Given the description of an element on the screen output the (x, y) to click on. 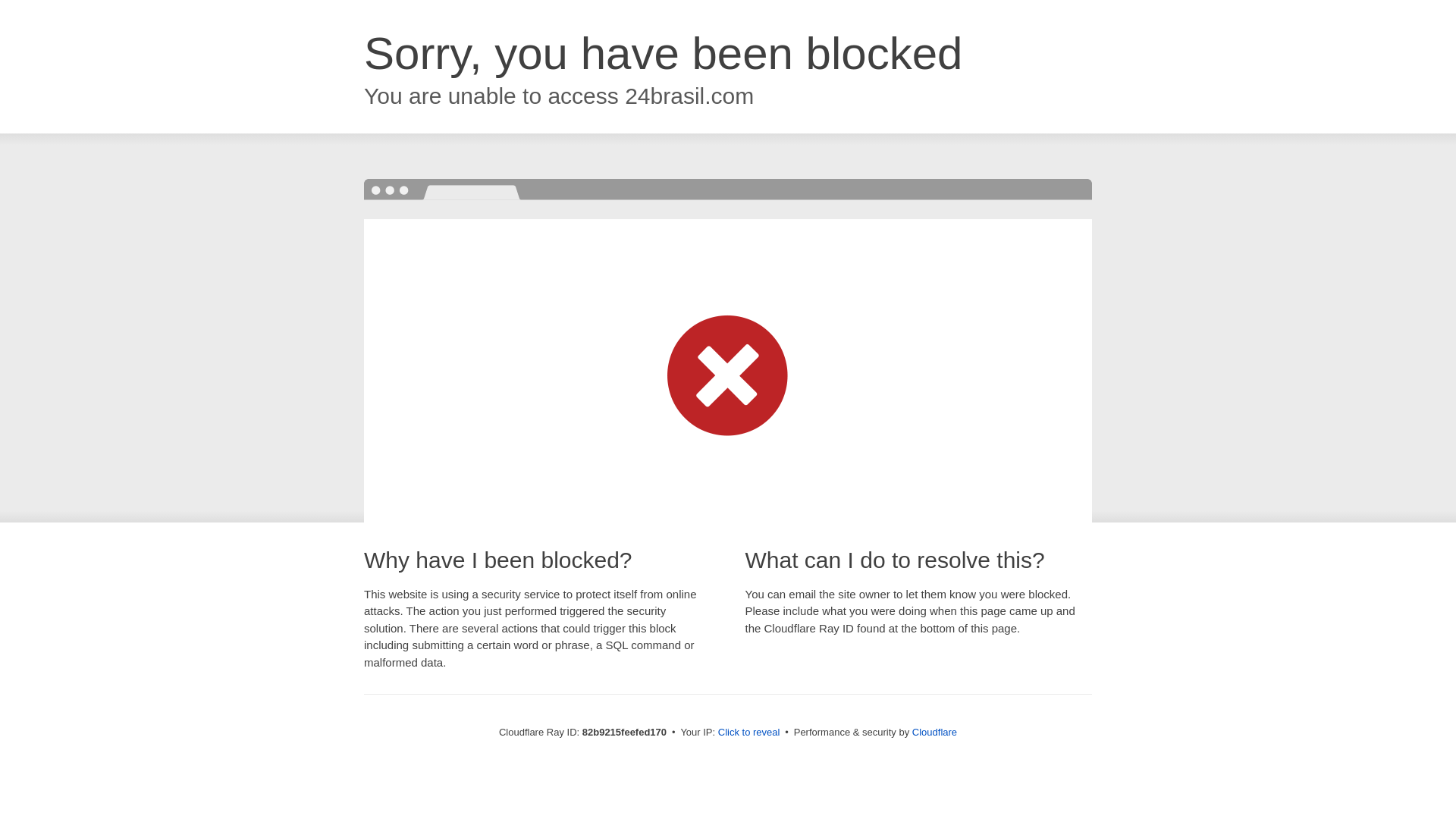
Click to reveal Element type: text (749, 732)
Cloudflare Element type: text (934, 731)
